Given the description of an element on the screen output the (x, y) to click on. 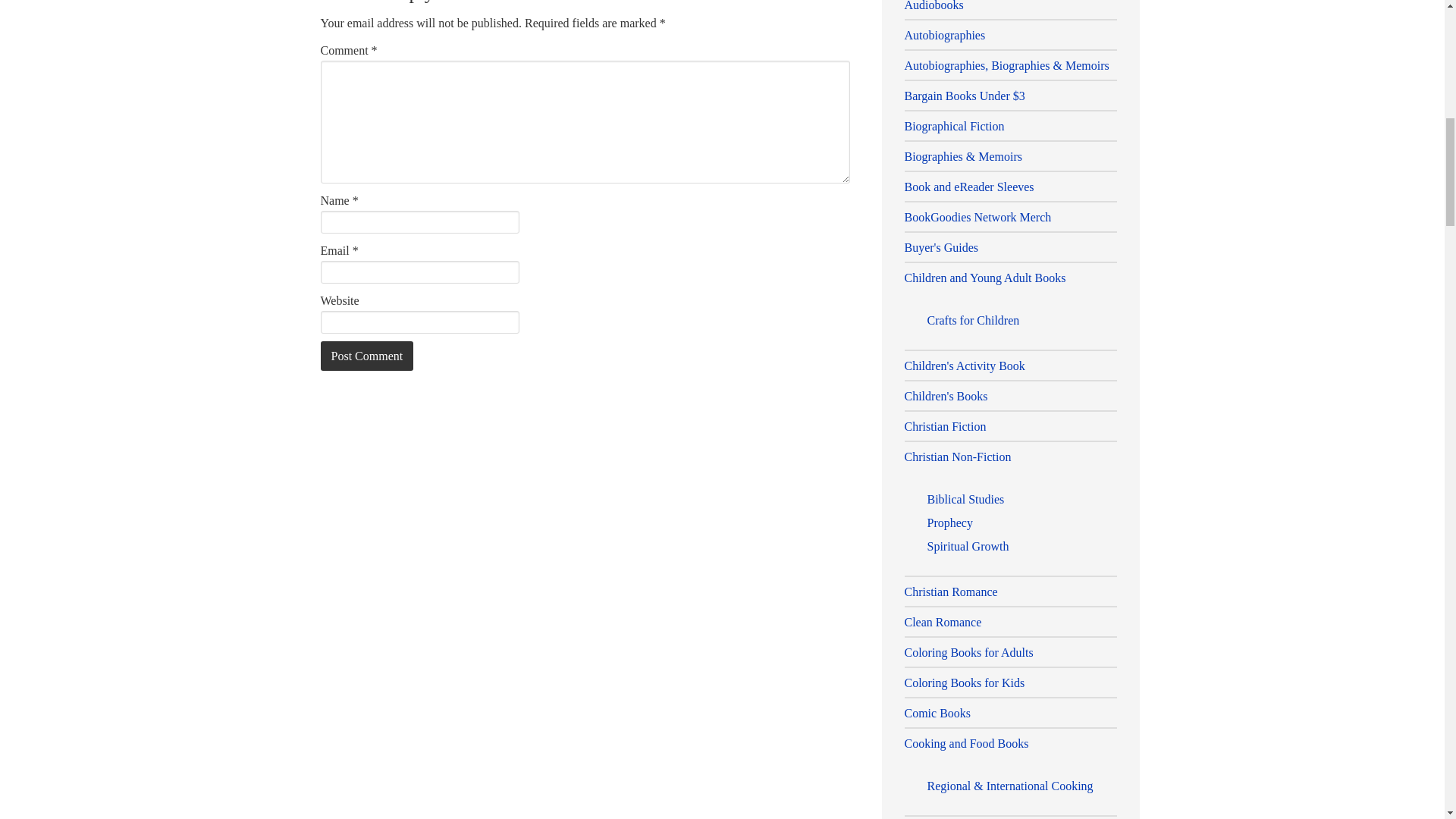
Post Comment (366, 356)
Post Comment (366, 356)
